Given the description of an element on the screen output the (x, y) to click on. 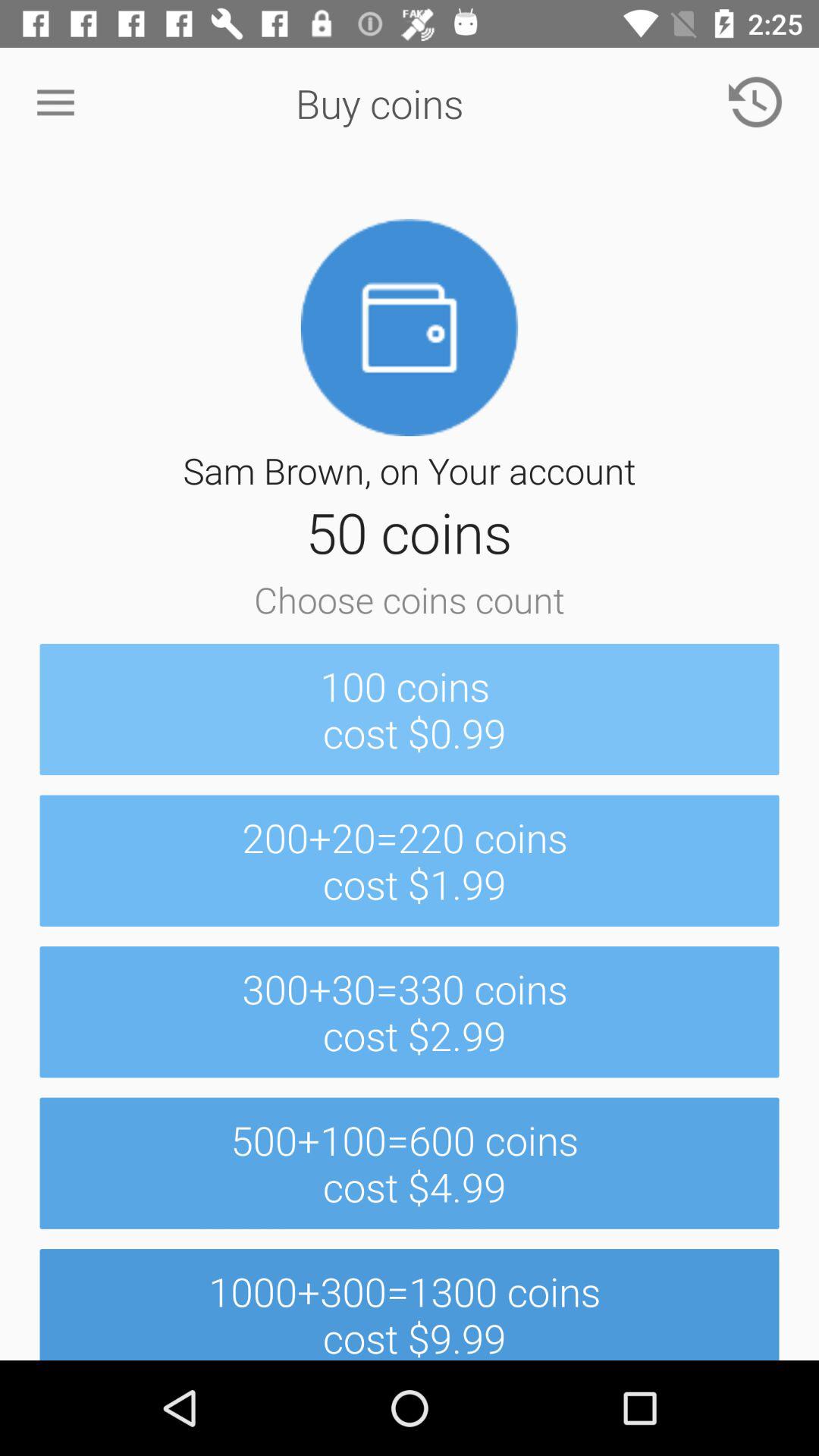
turn off the item above 100 coins cost (755, 103)
